Given the description of an element on the screen output the (x, y) to click on. 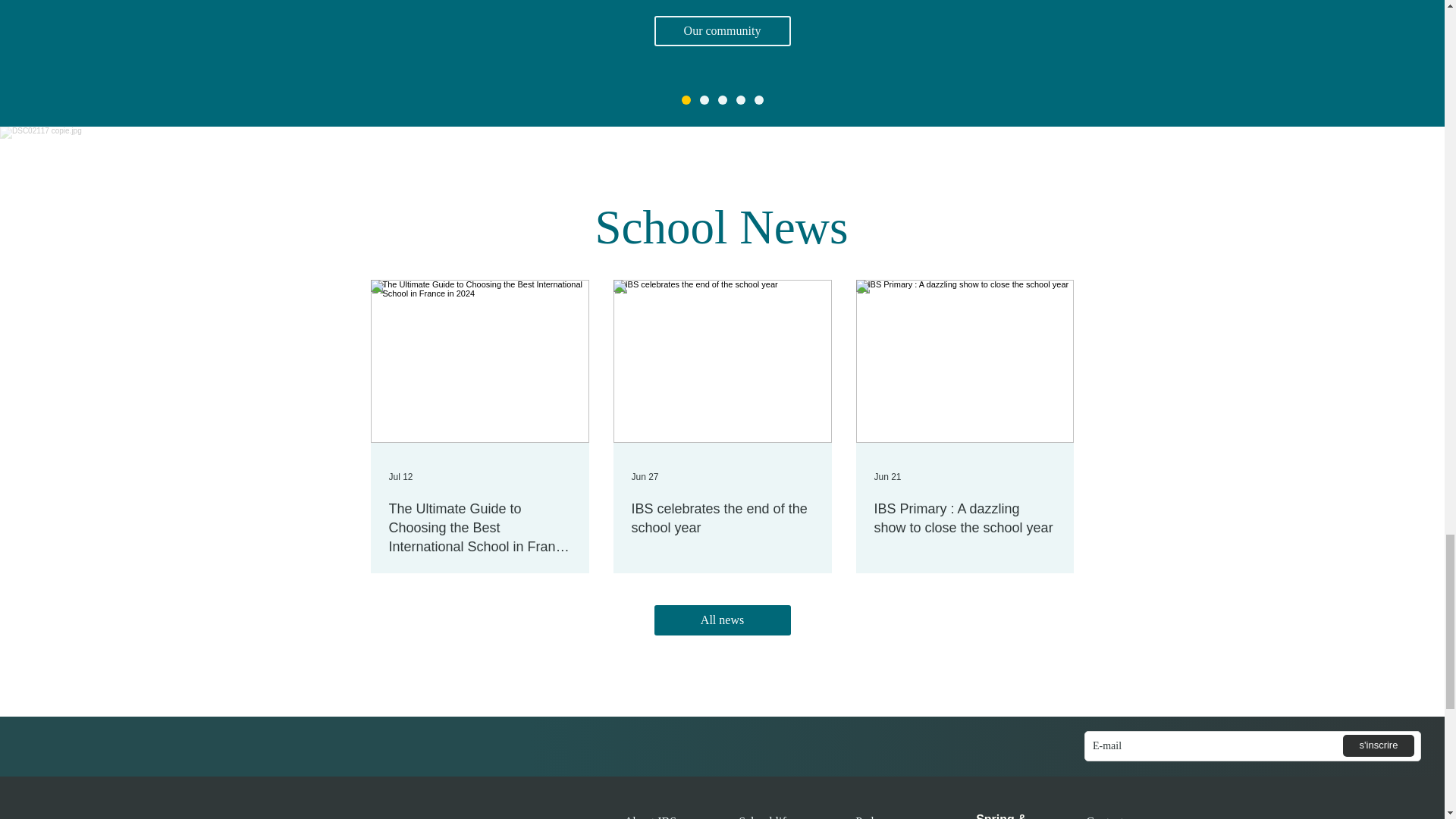
Jun 27 (644, 476)
Jul 12 (400, 476)
Jun 21 (887, 476)
